Given the description of an element on the screen output the (x, y) to click on. 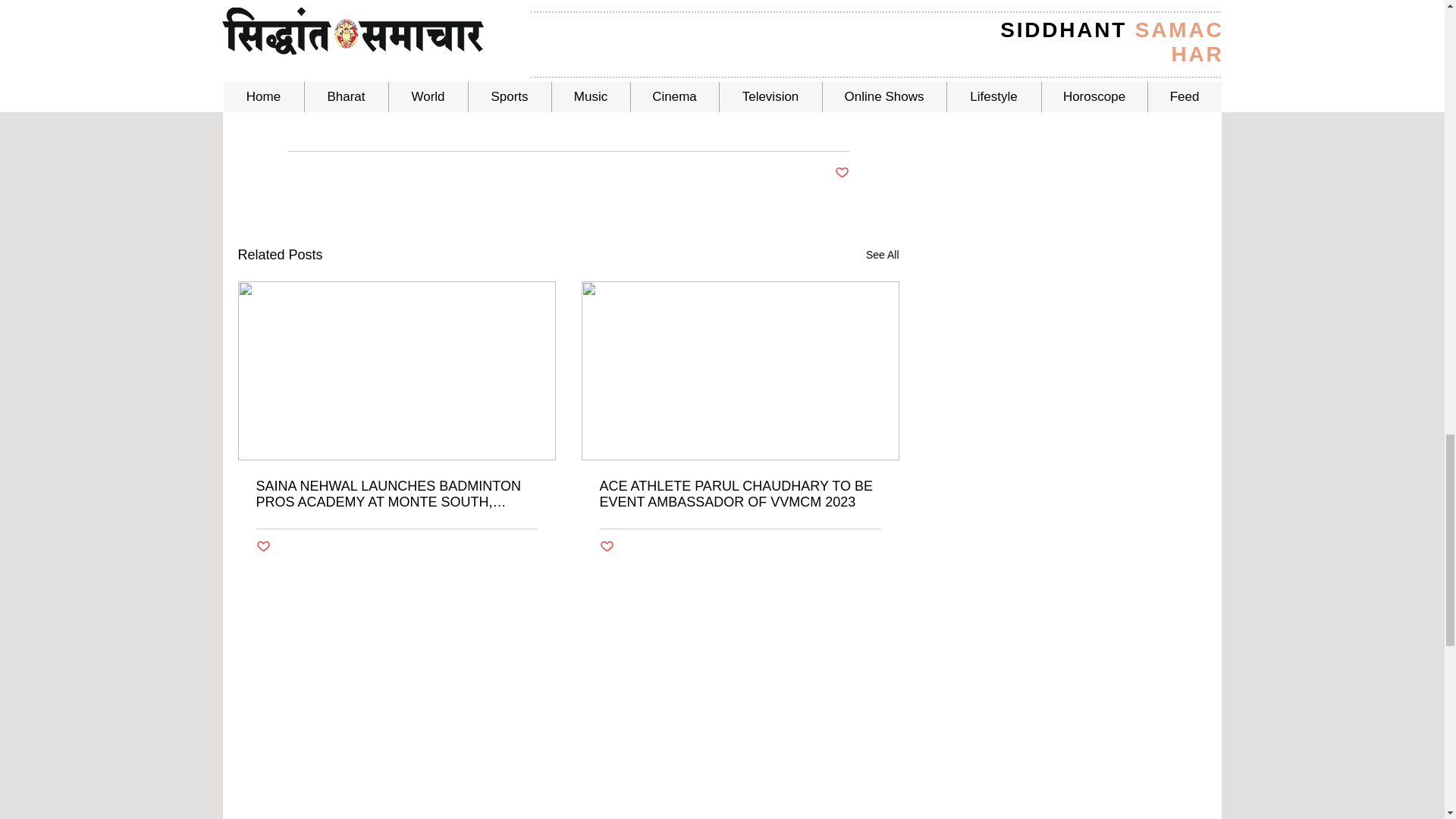
Post not marked as liked (605, 546)
Post not marked as liked (263, 546)
Post not marked as liked (841, 172)
See All (882, 255)
